Given the description of an element on the screen output the (x, y) to click on. 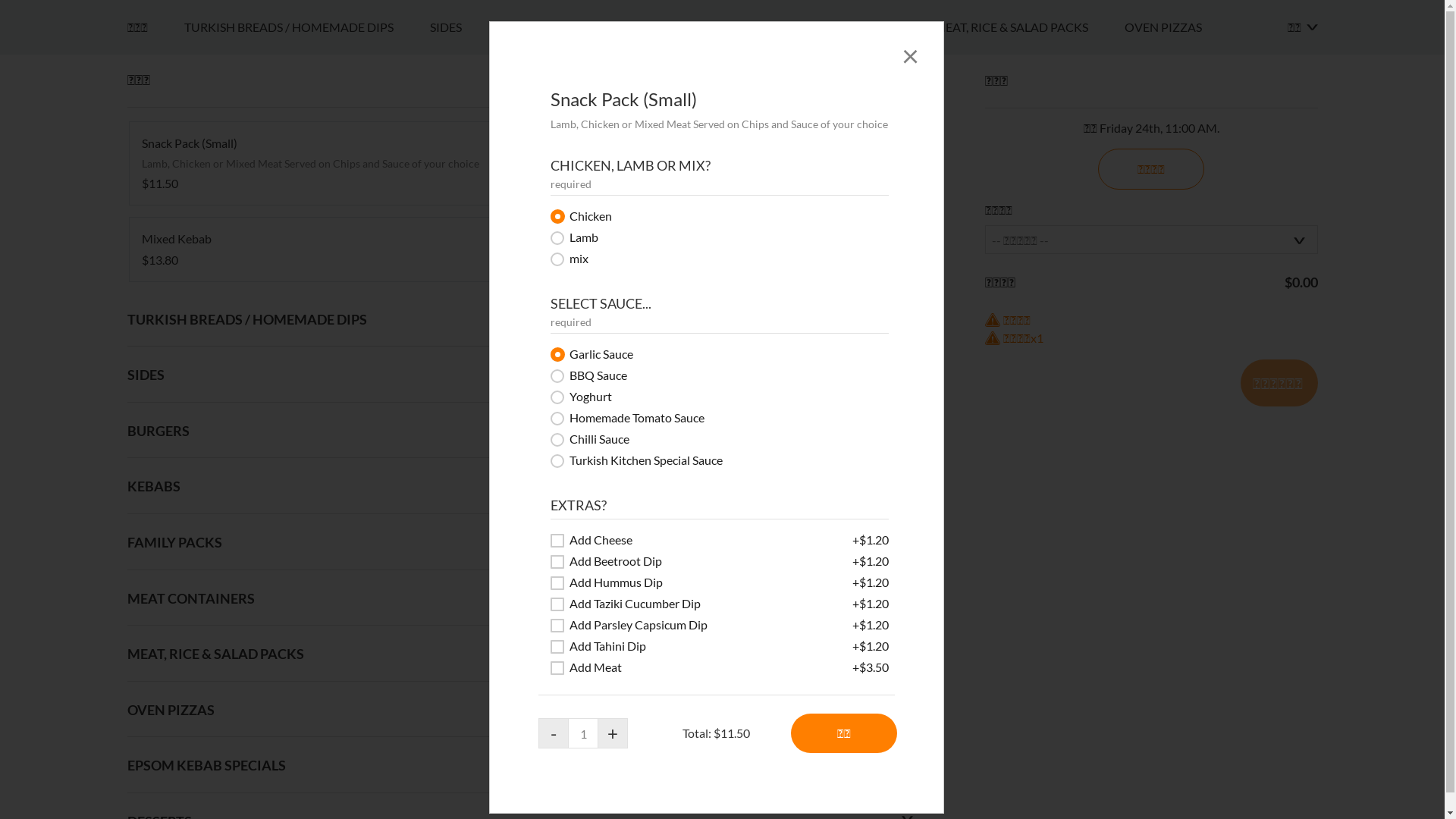
BURGERS Element type: text (542, 414)
KEBABS Element type: text (628, 414)
Lamb Kebab
$13.80 Element type: text (722, 550)
MEAT, RICE & SALAD PACKS Element type: text (1029, 414)
Mixed Kebab
$13.80 Element type: text (317, 636)
FAMILY PACKS Element type: text (727, 414)
Lamb Kebab
$13.80 Element type: text (722, 550)
Mixed Kebab
$13.80 Element type: text (317, 636)
Chicken Kebab
$13.80 Element type: text (722, 636)
OVEN PIZZAS Element type: text (1180, 414)
TURKISH BREADS / HOMEMADE DIPS Element type: text (306, 414)
401114 Element type: text (4, 392)
MEAT CONTAINERS Element type: text (860, 414)
SIDES Element type: text (463, 414)
Chicken Kebab
$13.80 Element type: text (722, 636)
